Given the description of an element on the screen output the (x, y) to click on. 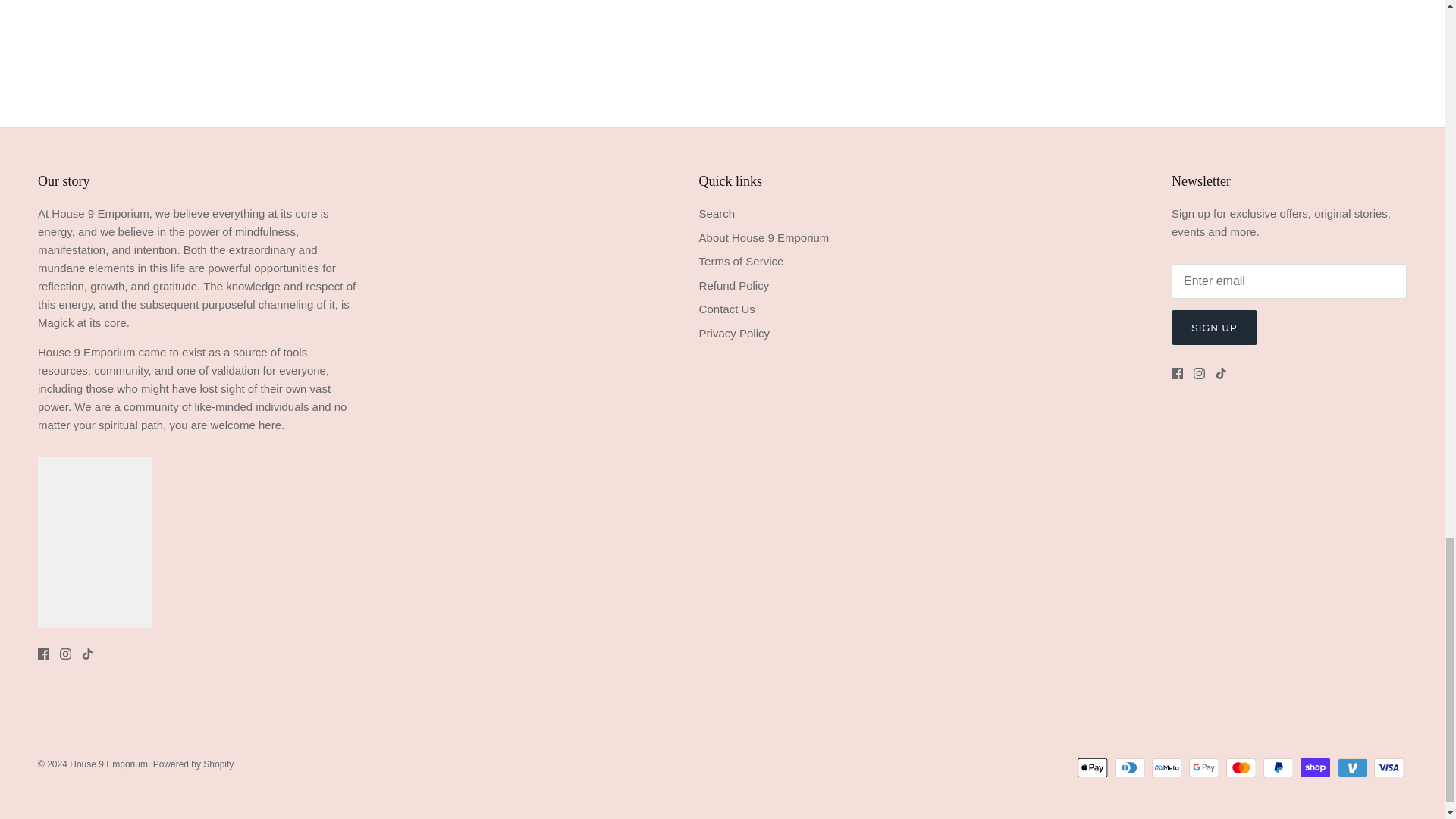
Facebook (43, 654)
Google Pay (1203, 767)
Instagram (65, 654)
Diners Club (1129, 767)
Facebook (1177, 373)
Instagram (1199, 373)
Apple Pay (1092, 767)
Mastercard (1240, 767)
Meta Pay (1166, 767)
PayPal (1277, 767)
